Given the description of an element on the screen output the (x, y) to click on. 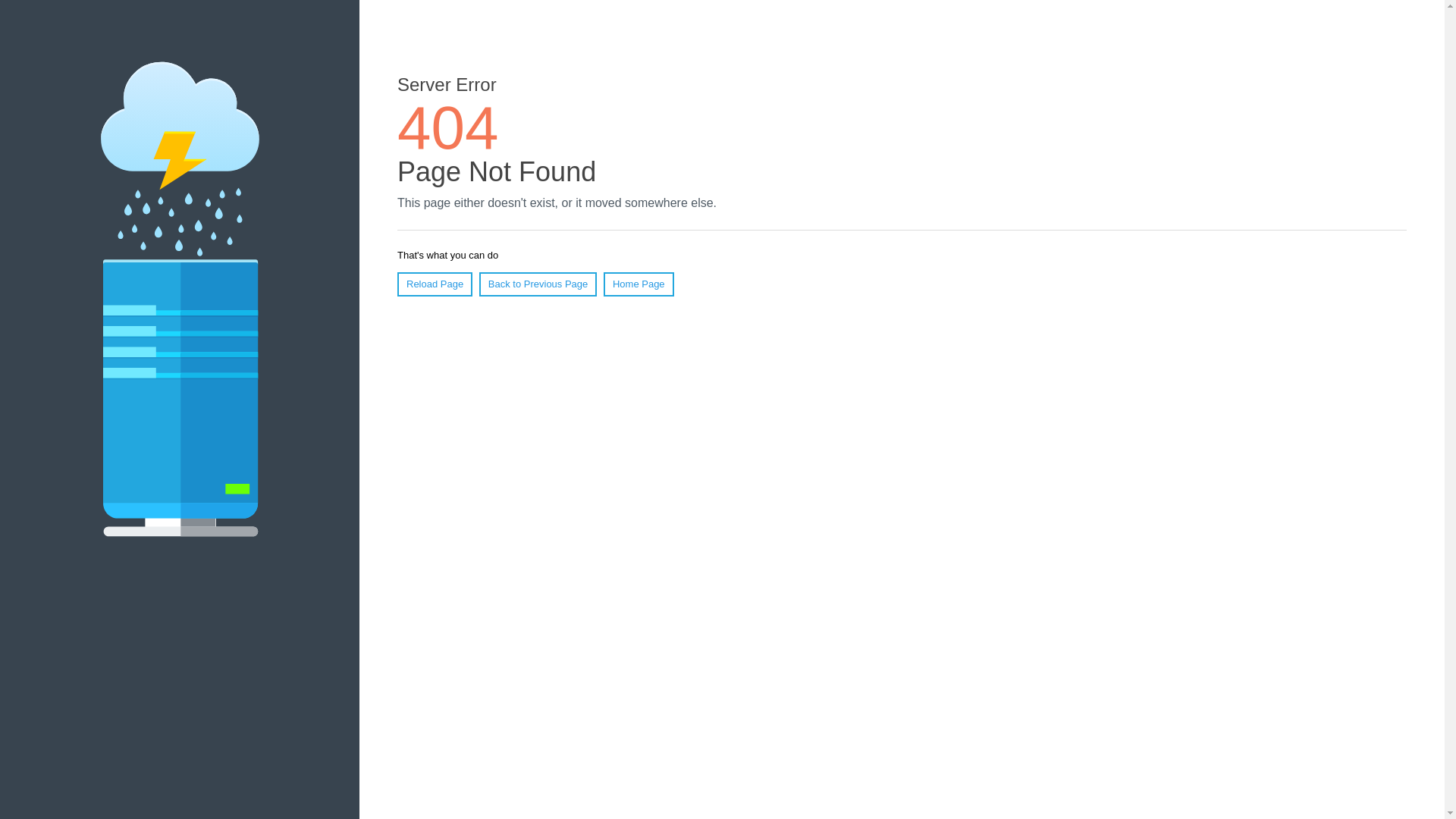
Back to Previous Page Element type: text (538, 284)
Reload Page Element type: text (434, 284)
Home Page Element type: text (638, 284)
